Given the description of an element on the screen output the (x, y) to click on. 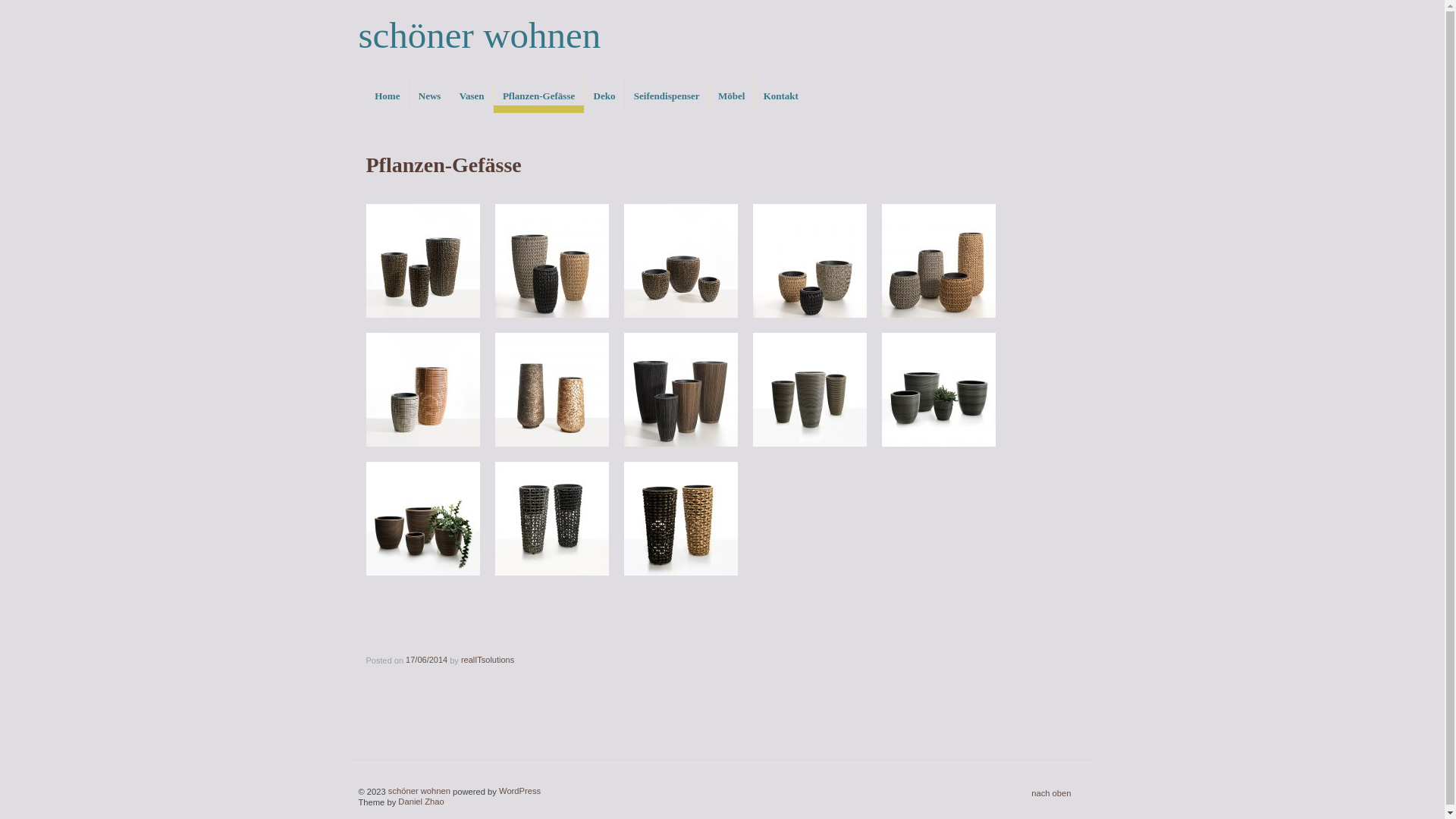
nach oben Element type: text (1050, 792)
Seifendispenser Element type: text (666, 95)
Vasen Element type: text (470, 95)
Home Element type: text (386, 95)
Daniel Zhao Element type: text (420, 800)
Deko Element type: text (603, 95)
realITsolutions Element type: text (487, 658)
WordPress Element type: text (519, 790)
Kontakt Element type: text (780, 95)
News Element type: text (428, 95)
17/06/2014 Element type: text (426, 658)
